Given the description of an element on the screen output the (x, y) to click on. 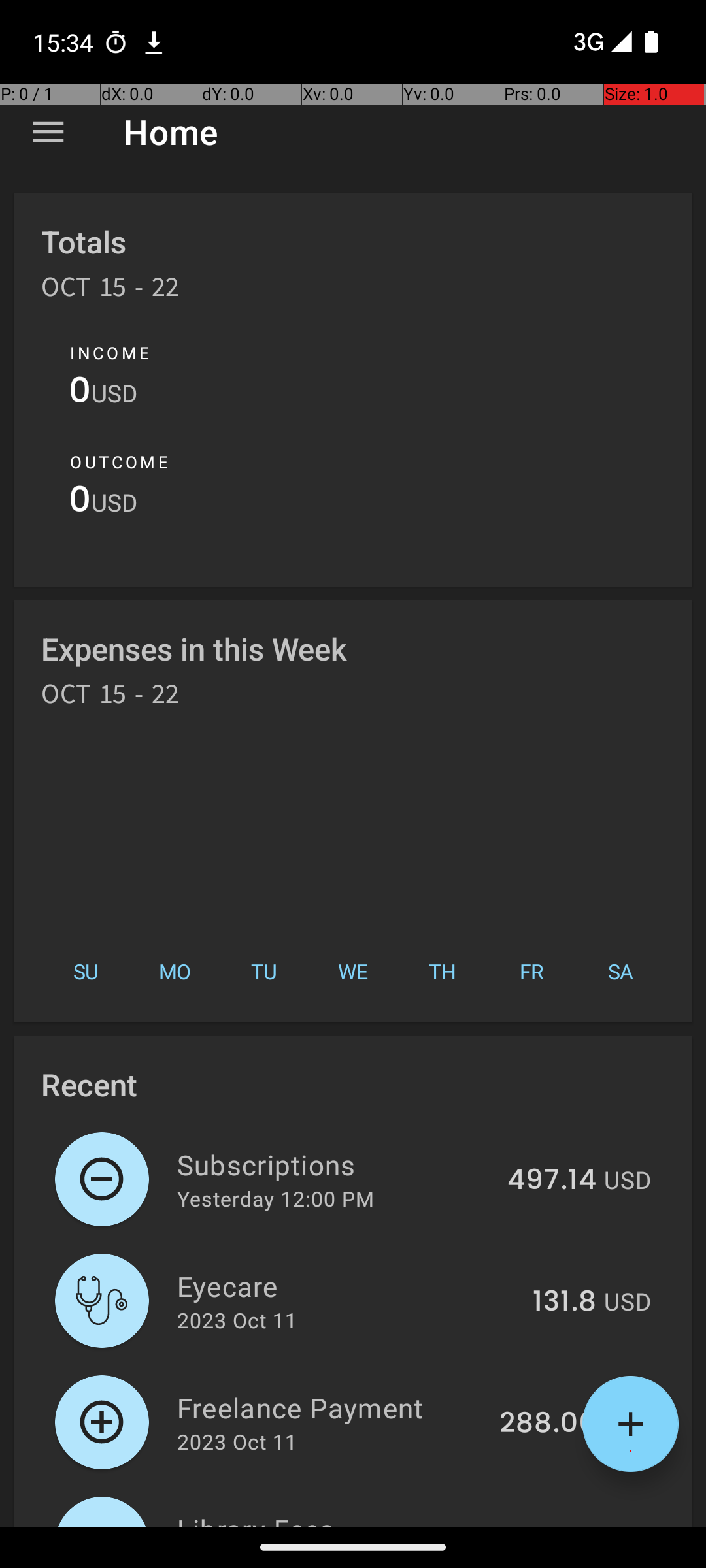
Yesterday 12:00 PM Element type: android.widget.TextView (275, 1198)
497.14 Element type: android.widget.TextView (551, 1180)
131.8 Element type: android.widget.TextView (564, 1301)
288.06 Element type: android.widget.TextView (547, 1423)
440.85 Element type: android.widget.TextView (546, 1524)
Chrome notification: m.youtube.com Element type: android.widget.ImageView (153, 41)
